Given the description of an element on the screen output the (x, y) to click on. 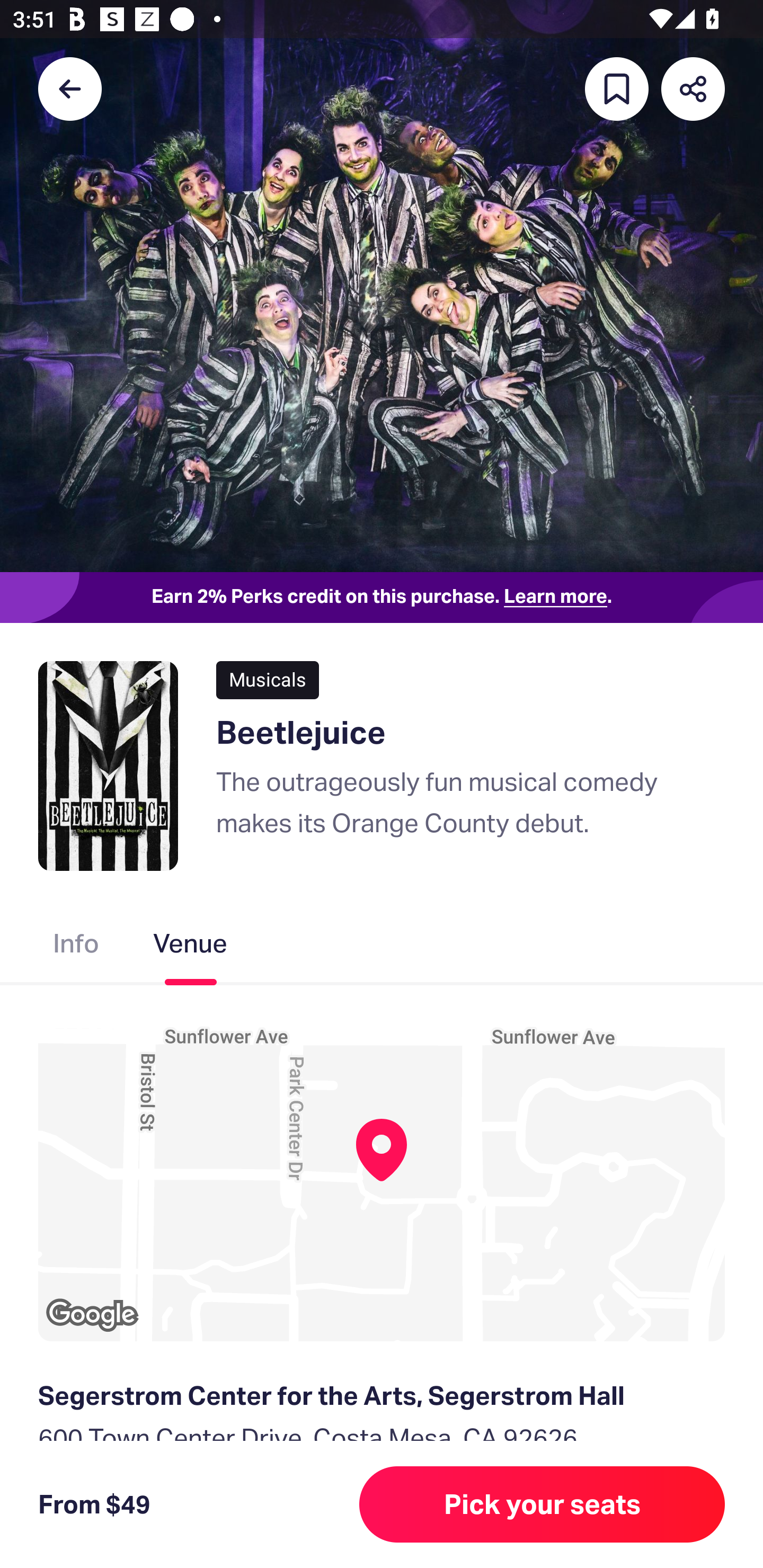
Earn 2% Perks credit on this purchase. Learn more. (381, 597)
Info (76, 946)
Pick your seats (541, 1504)
Get directions (381, 1530)
